Given the description of an element on the screen output the (x, y) to click on. 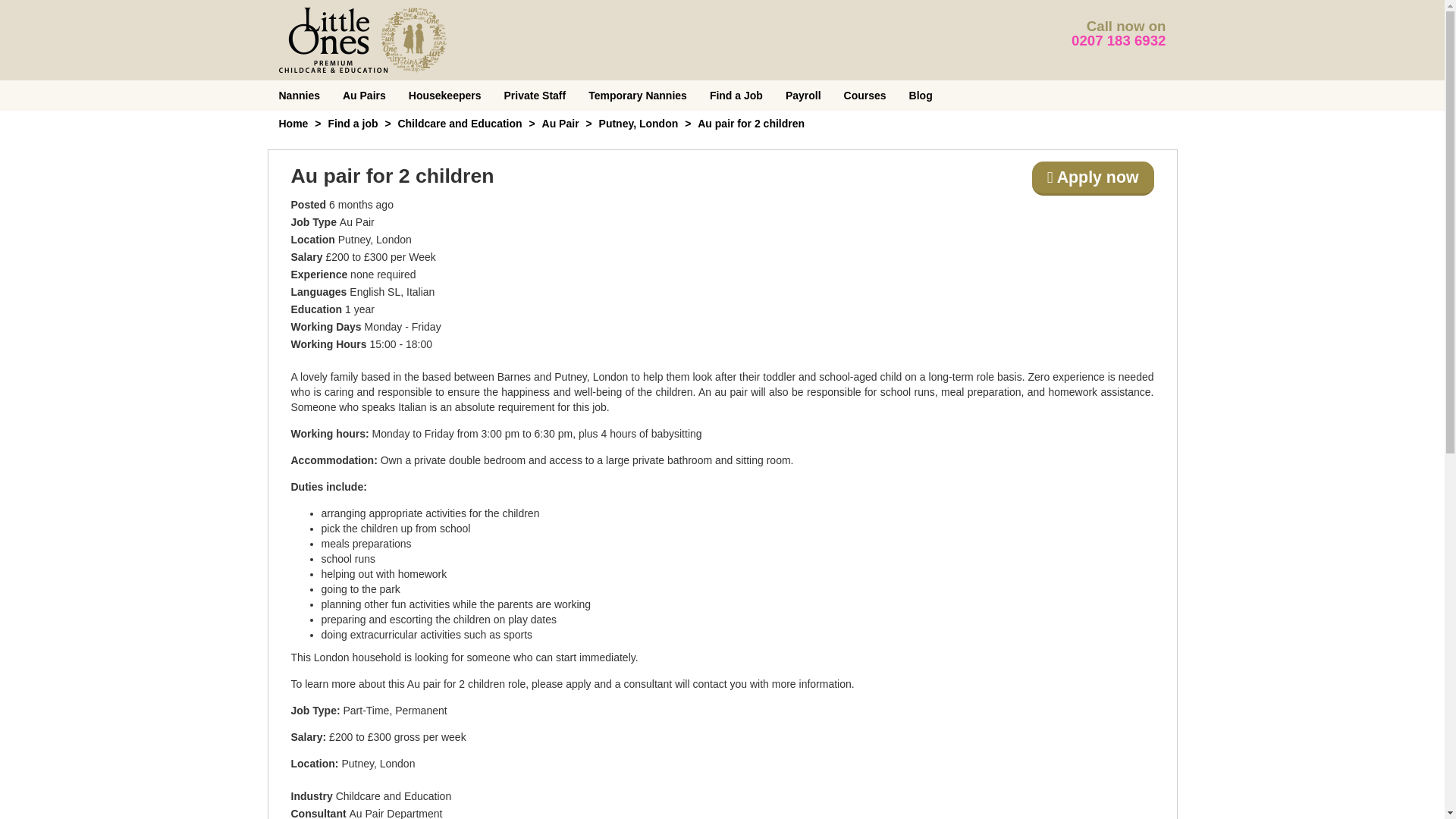
Au Pairs (364, 95)
Nannies (298, 95)
Housekeepers (445, 95)
0207 183 6932 (1118, 40)
